Given the description of an element on the screen output the (x, y) to click on. 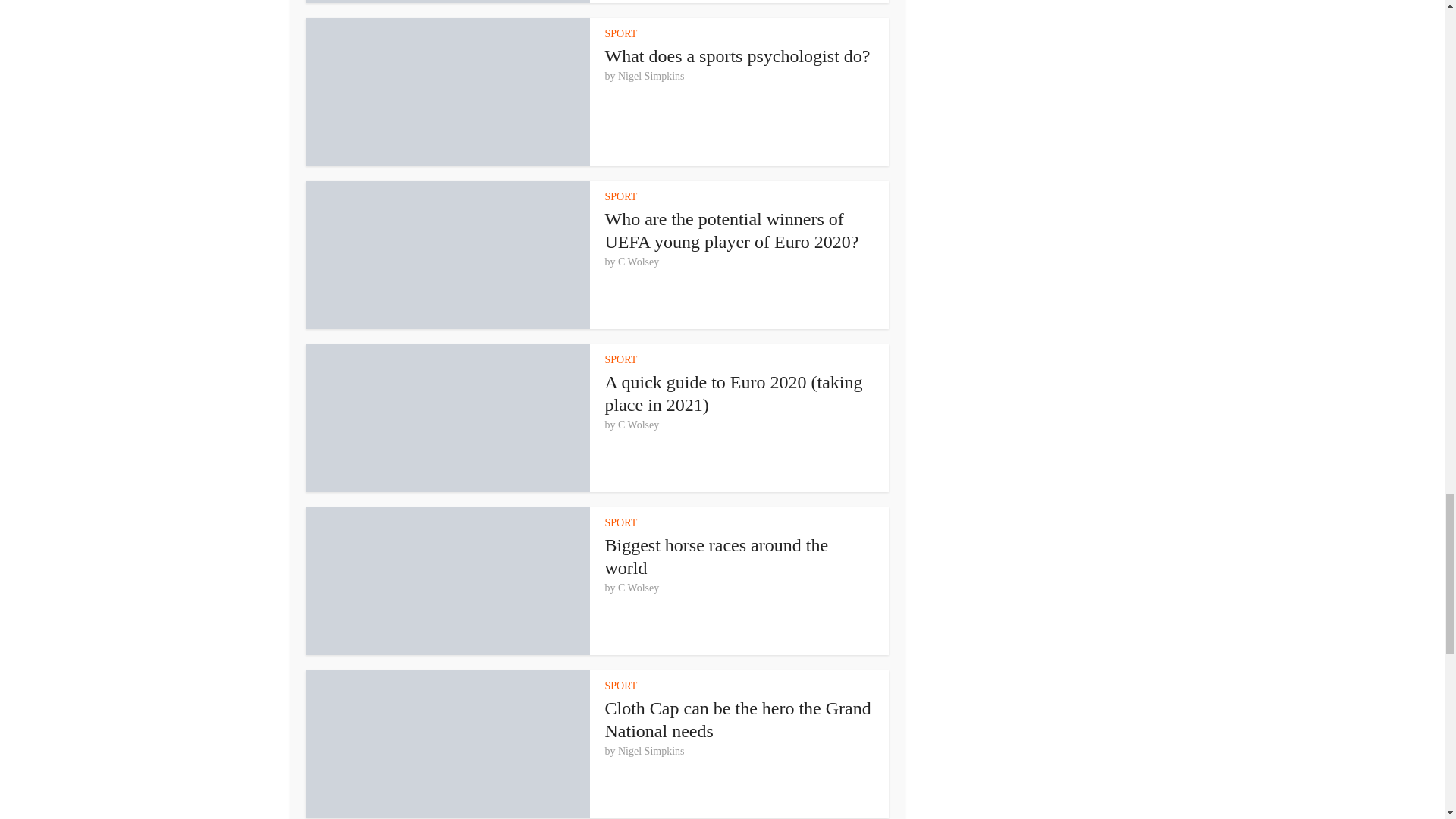
Nigel Simpkins (650, 76)
SPORT (621, 33)
C Wolsey (638, 425)
SPORT (621, 359)
Biggest horse races around the world (716, 556)
SPORT (621, 196)
C Wolsey (638, 262)
What does a sports psychologist do? (737, 55)
Cloth Cap can be the hero the Grand National needs (737, 719)
What does a sports psychologist do? (737, 55)
